Given the description of an element on the screen output the (x, y) to click on. 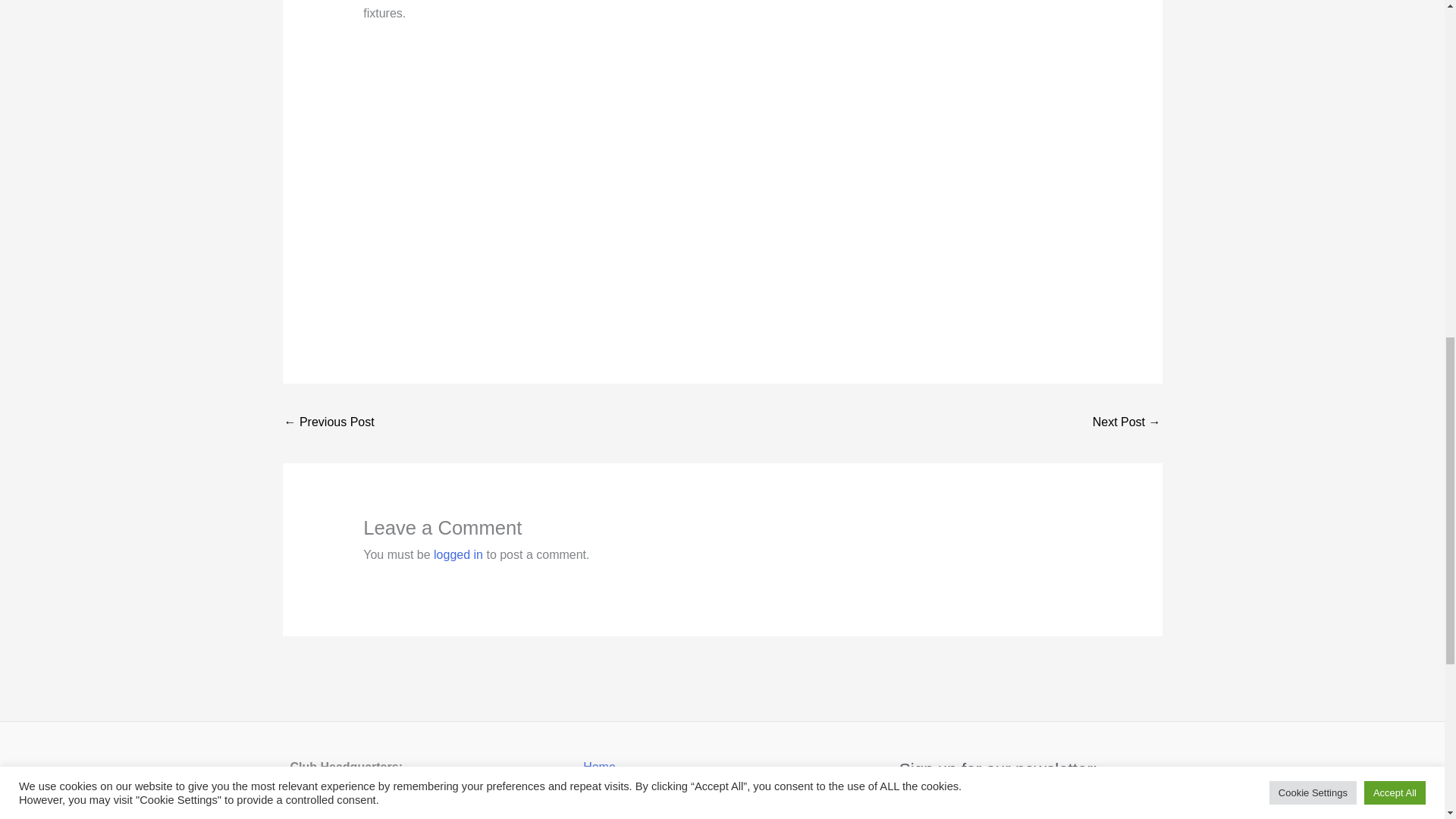
Wolves Win In a Canter (1126, 423)
Jamie Runs For England! (328, 423)
